Given the description of an element on the screen output the (x, y) to click on. 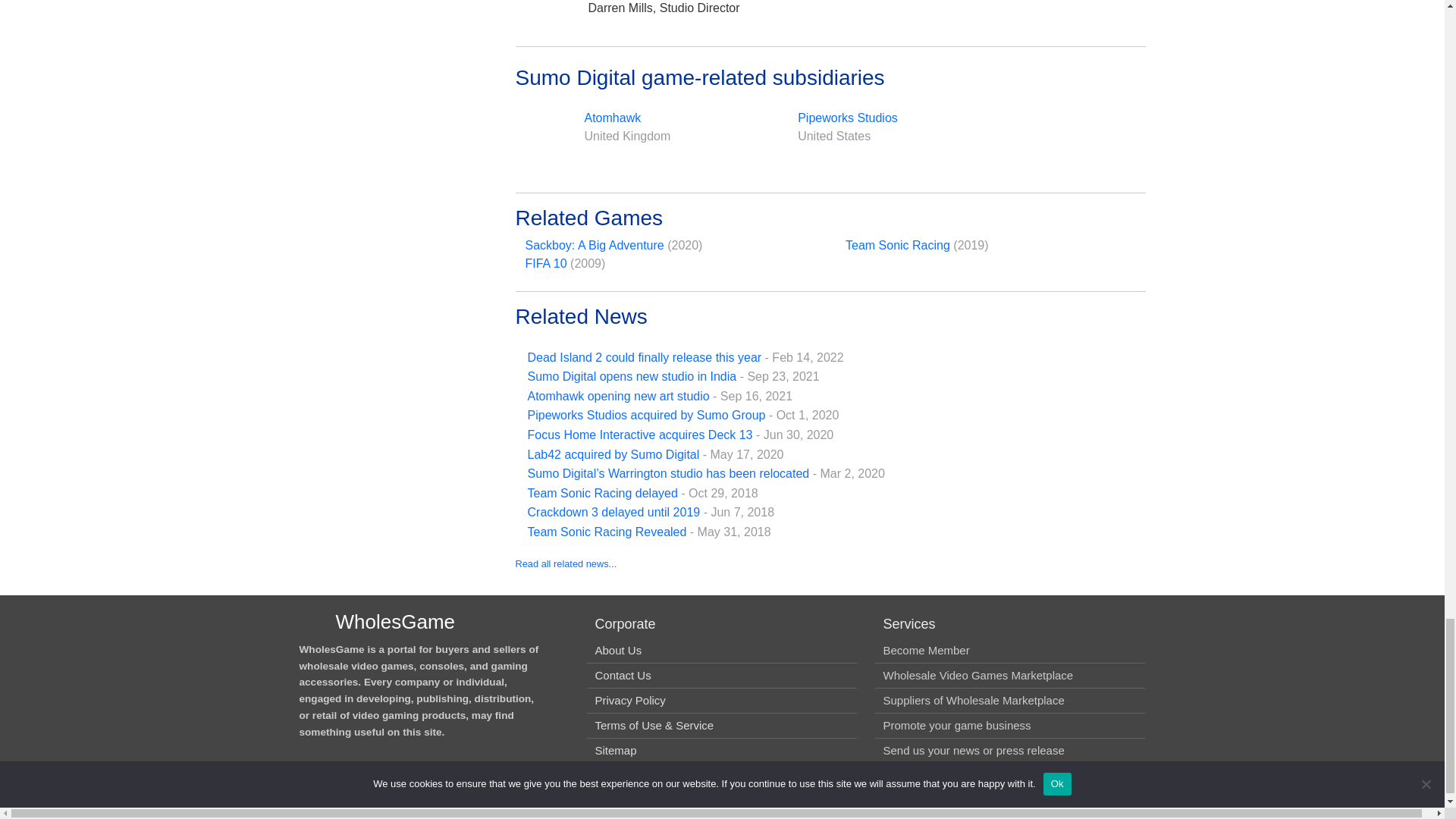
About Us (618, 649)
